Given the description of an element on the screen output the (x, y) to click on. 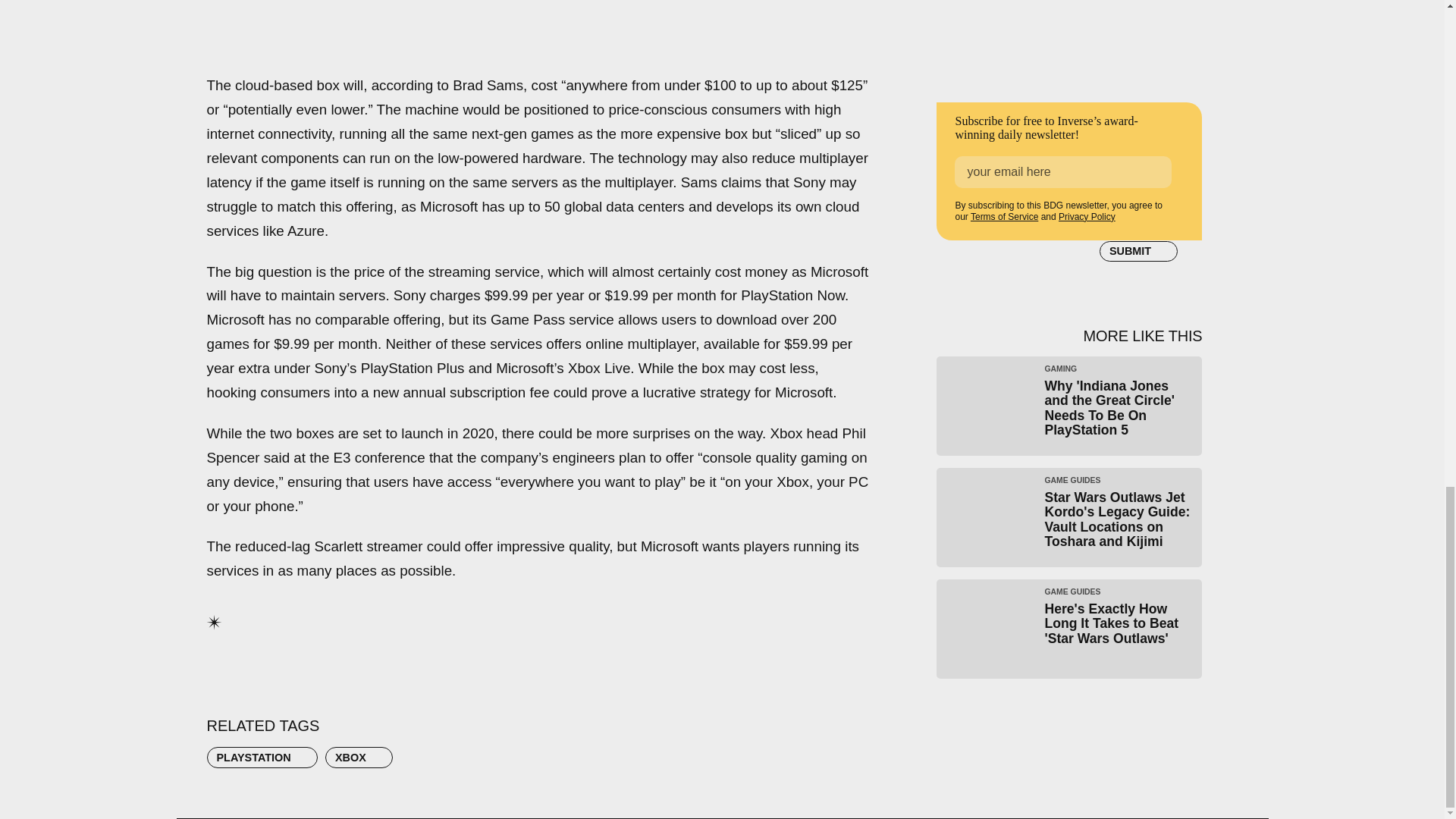
Privacy Policy (1086, 216)
PLAYSTATION (261, 757)
Terms of Service (1004, 216)
SUBMIT (1138, 251)
XBOX (358, 757)
